Given the description of an element on the screen output the (x, y) to click on. 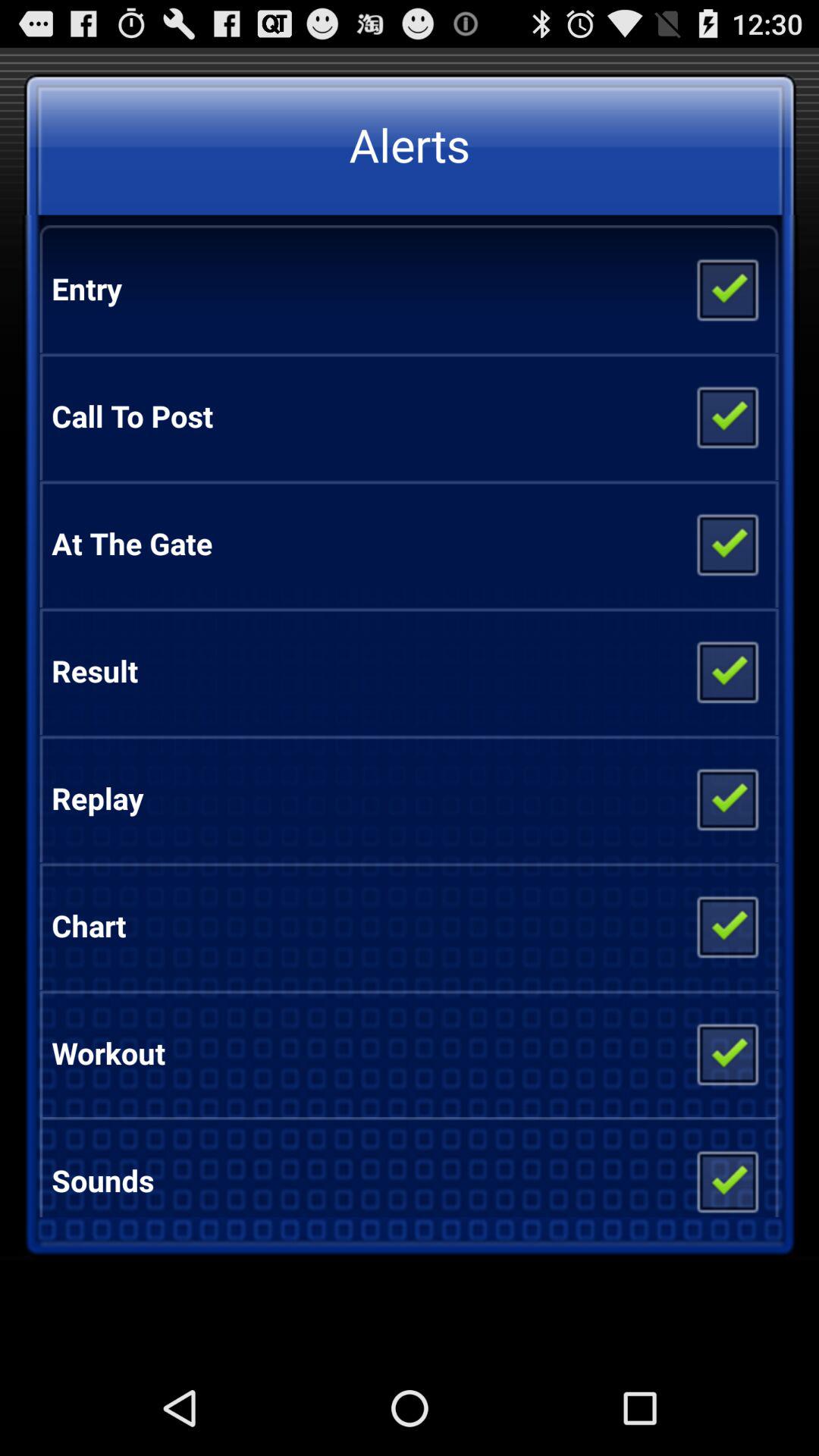
tap item next to the call to post (726, 416)
